Given the description of an element on the screen output the (x, y) to click on. 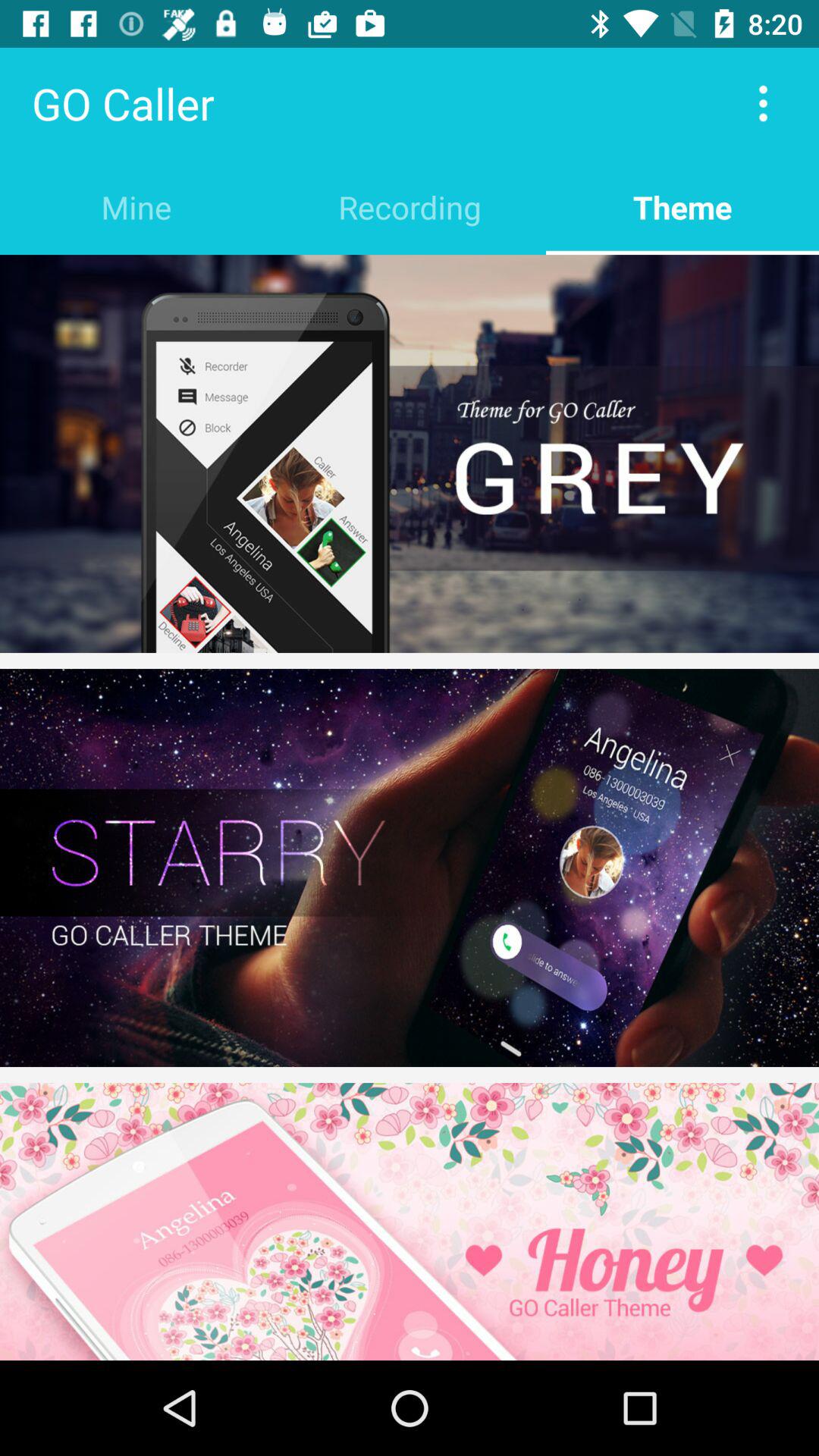
scroll to mine (136, 206)
